Given the description of an element on the screen output the (x, y) to click on. 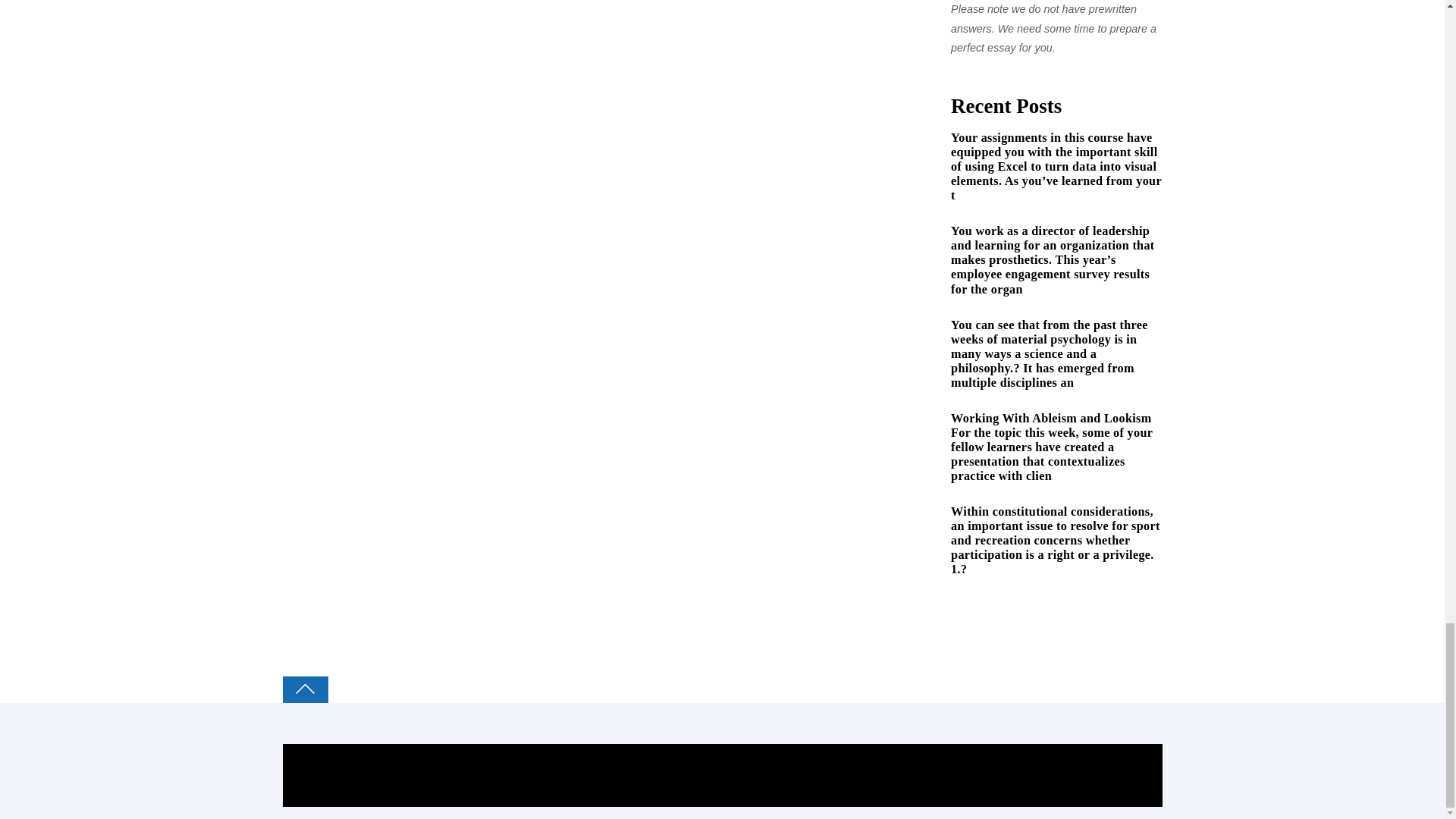
COLLEGE PAL (362, 752)
College Pal (362, 752)
